Given the description of an element on the screen output the (x, y) to click on. 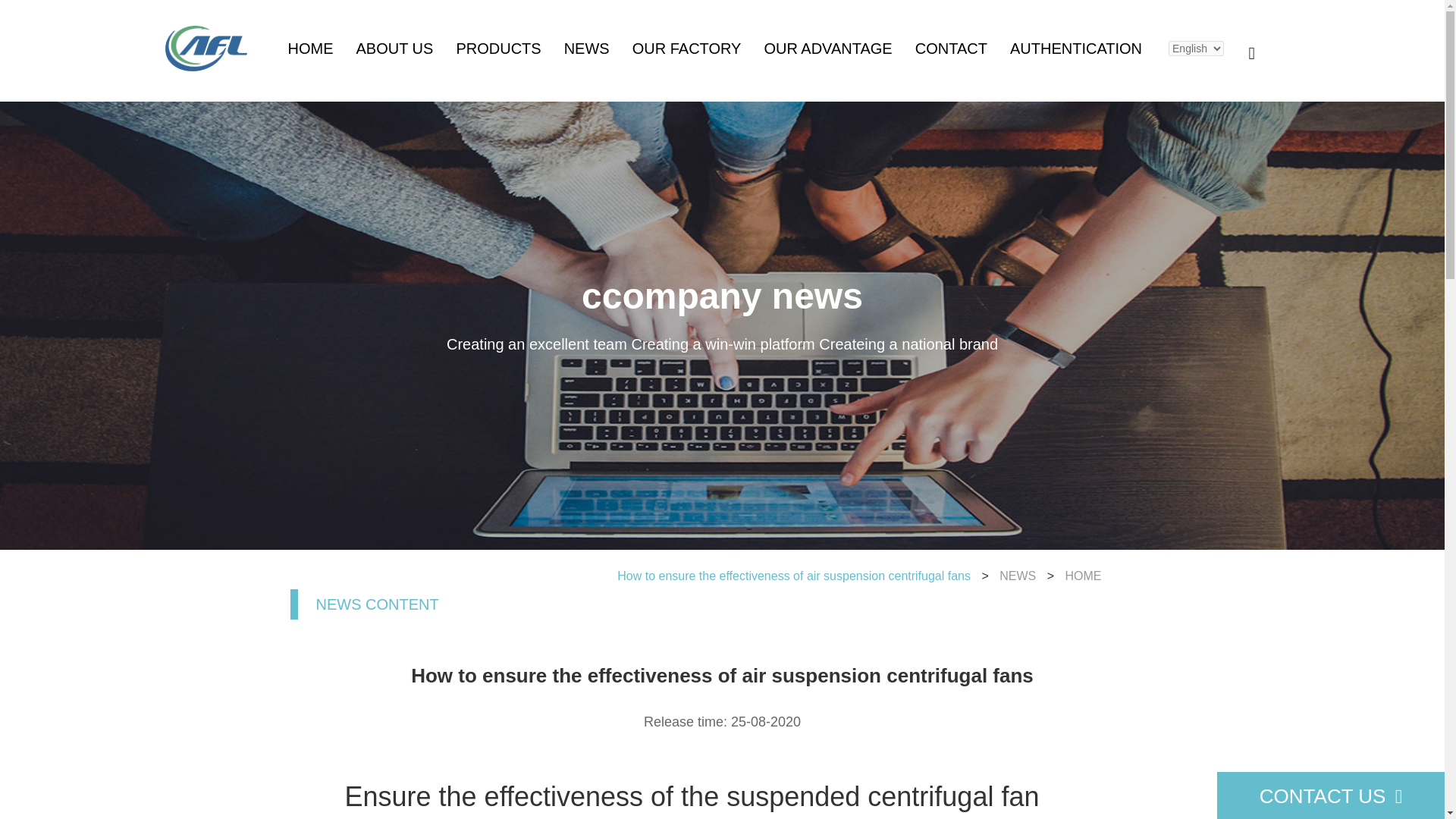
OUR FACTORY (686, 48)
PRODUCTS (497, 48)
ABOUT US (394, 48)
HOME (310, 48)
CONTACT (951, 48)
NEWS (673, 575)
NEWS (587, 48)
OUR ADVANTAGE (826, 48)
HOME (783, 575)
AUTHENTICATION (1075, 48)
